Given the description of an element on the screen output the (x, y) to click on. 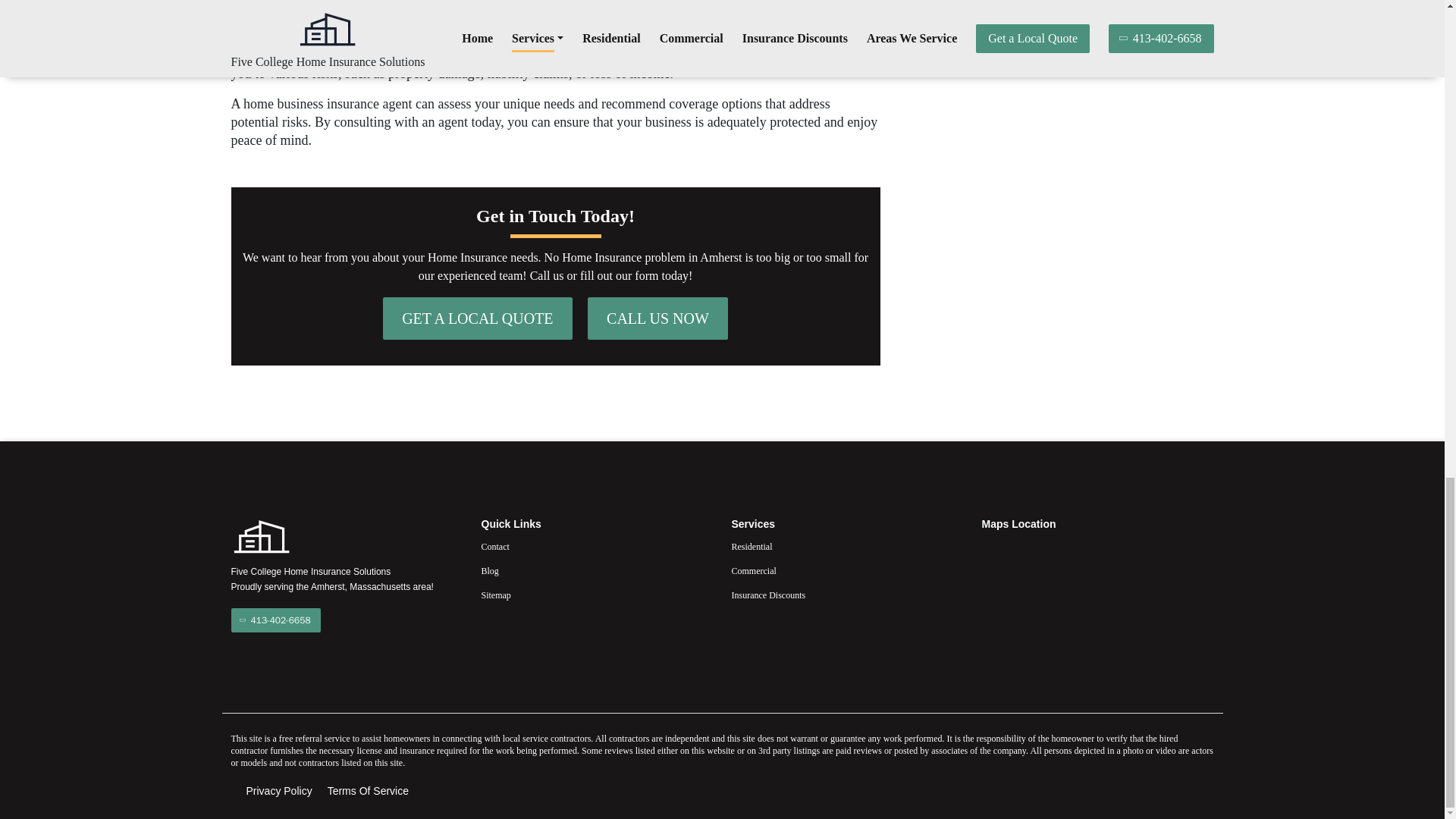
Commercial (846, 570)
Sitemap (596, 595)
413-402-6658 (275, 620)
Blog (596, 570)
Contact (596, 546)
GET A LOCAL QUOTE (477, 318)
Terms Of Service (368, 791)
Insurance Discounts (846, 595)
Privacy Policy (278, 791)
CALL US NOW (658, 318)
Residential (846, 546)
